Given the description of an element on the screen output the (x, y) to click on. 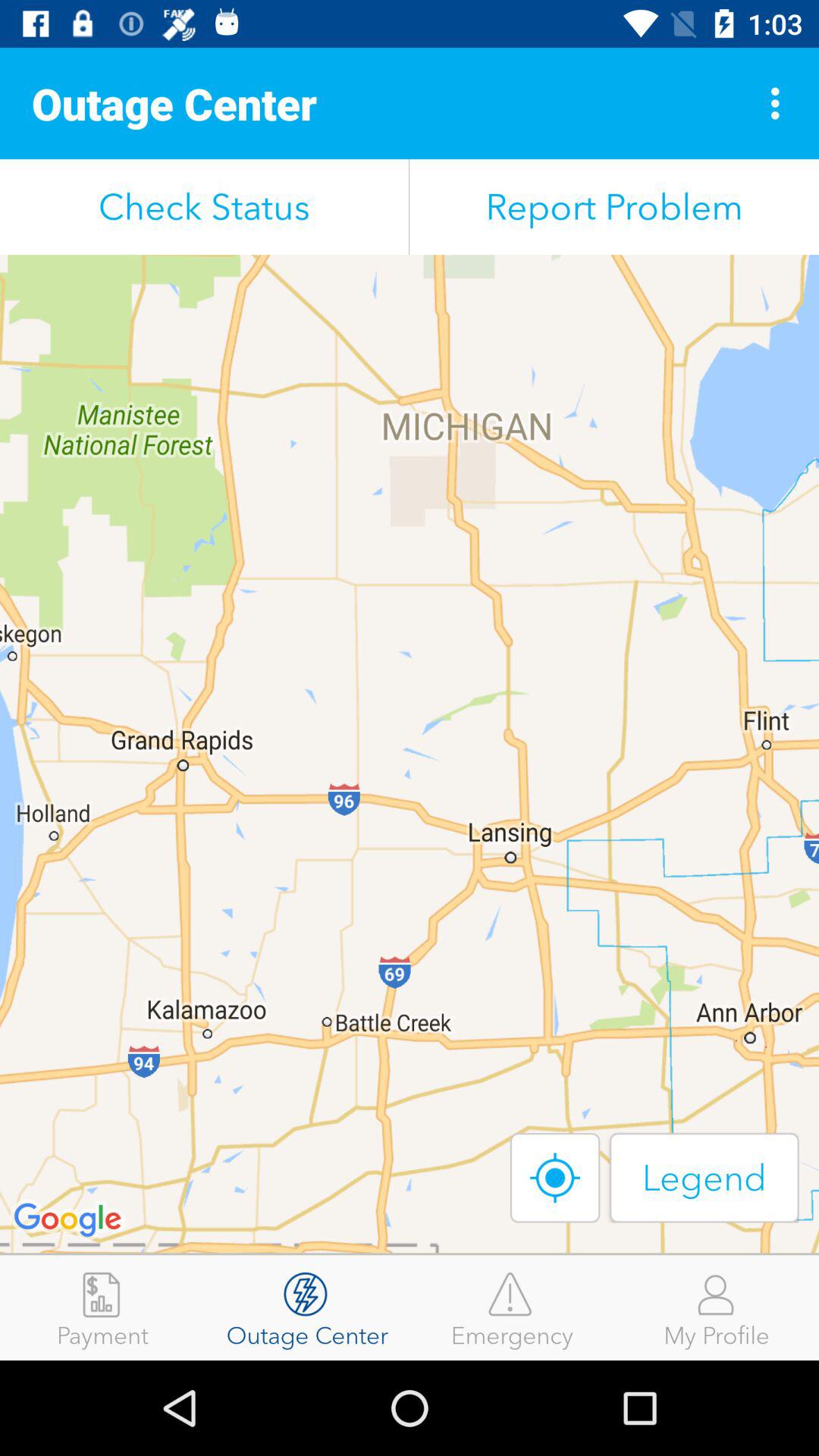
press item next to emergency (716, 1307)
